Given the description of an element on the screen output the (x, y) to click on. 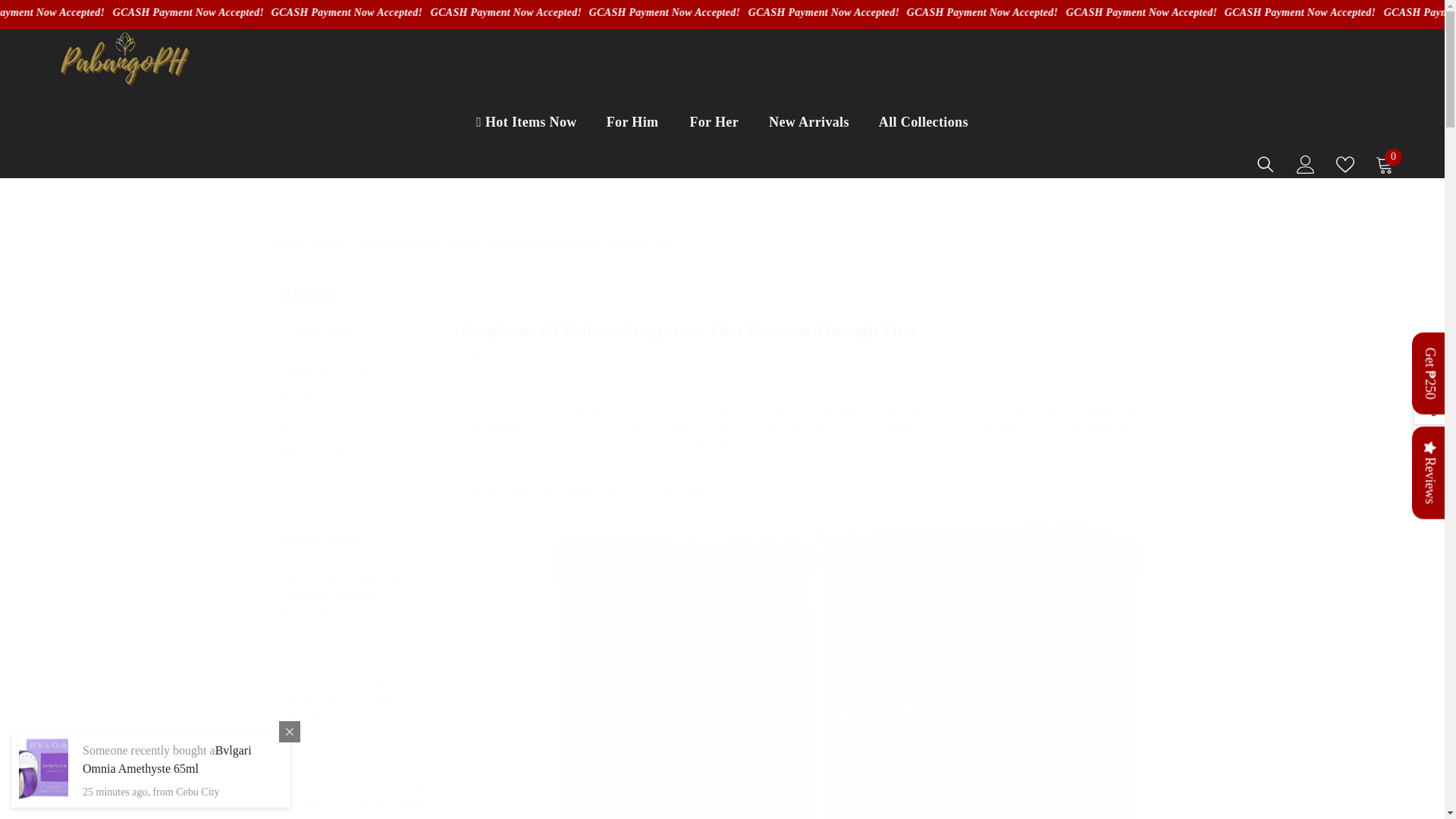
GCASH Payment Now Accepted! (1071, 12)
For Her (714, 137)
GCASH Payment Now Accepted! (282, 12)
GCASH Payment Now Accepted! (598, 12)
GCASH Payment Now Accepted! (756, 12)
For Him (632, 138)
All Collections (923, 136)
GCASH Payment Now Accepted! (23, 12)
New Arrivals (809, 137)
GCASH Payment Now Accepted! (440, 12)
NEWS (722, 289)
GCASH Payment Now Accepted! (124, 12)
GCASH Payment Now Accepted! (1229, 12)
